Given the description of an element on the screen output the (x, y) to click on. 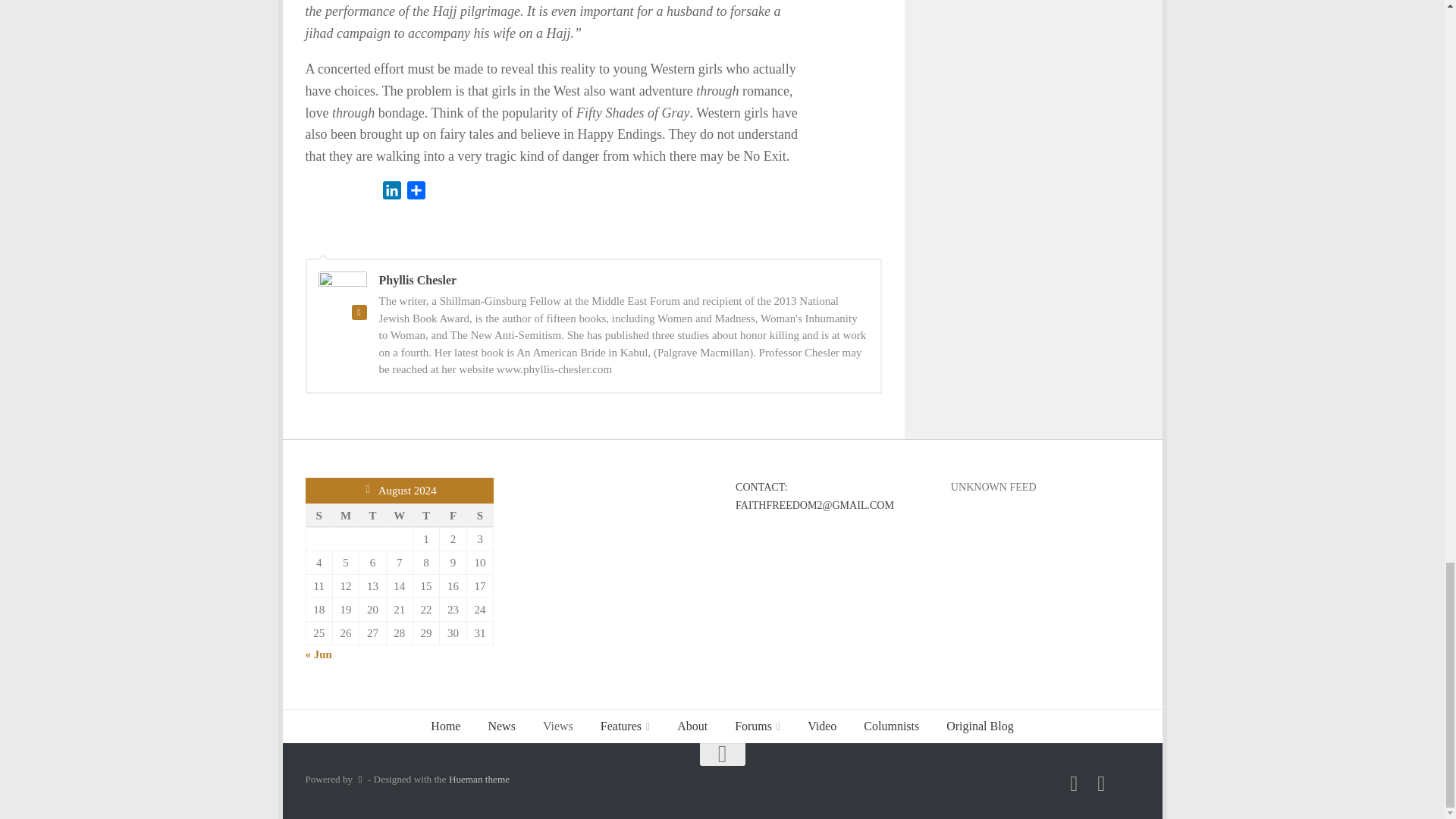
Monday (344, 515)
Sunday (318, 515)
LinkedIn (390, 192)
